Given the description of an element on the screen output the (x, y) to click on. 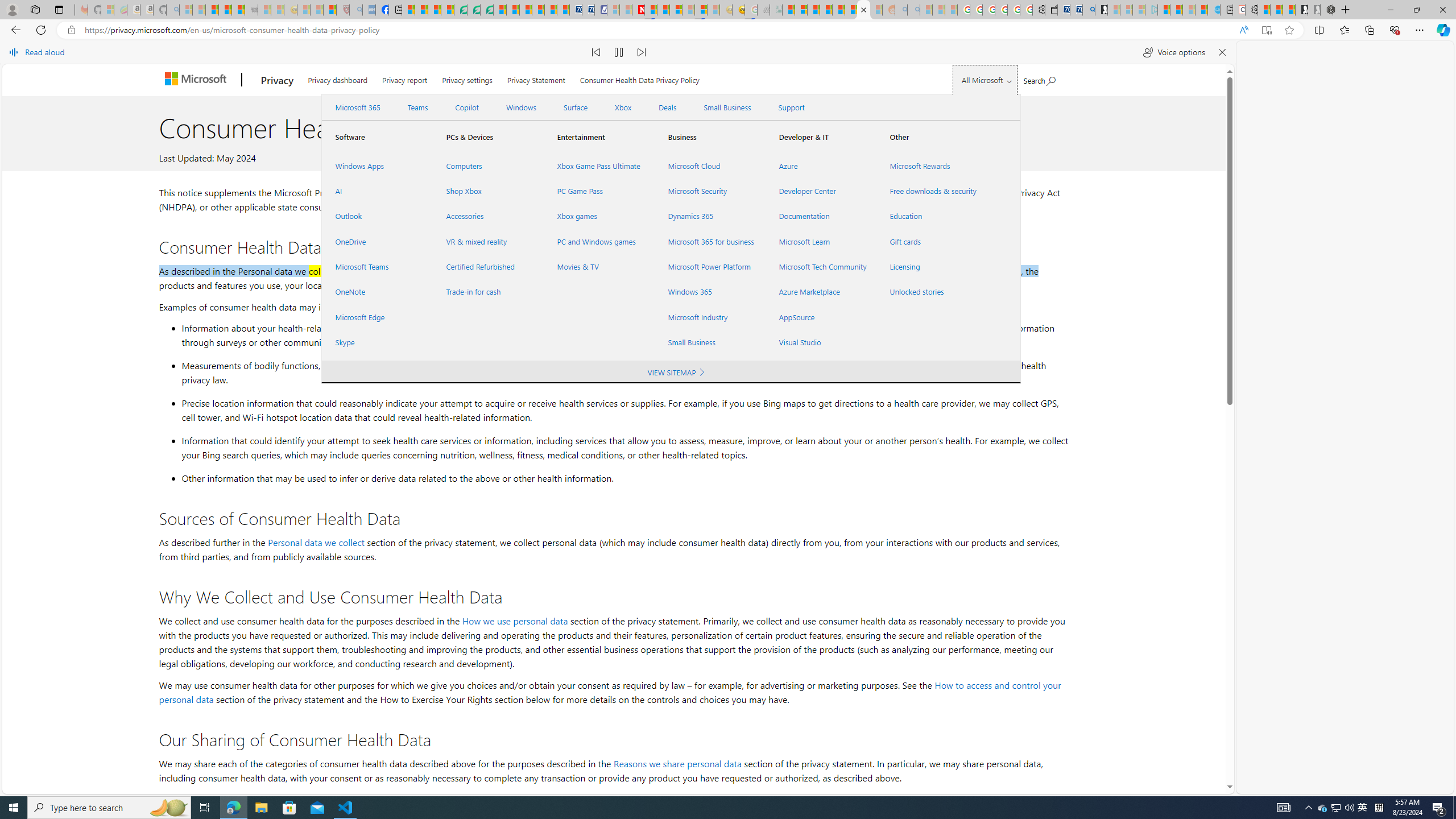
Unlocked stories (931, 291)
Movies & TV (599, 266)
Azure (820, 165)
Privacy Statement (536, 77)
Microsoft Tech Community (820, 266)
Microsoft Power Platform (709, 266)
Visual Studio (820, 342)
Xbox (623, 107)
